Given the description of an element on the screen output the (x, y) to click on. 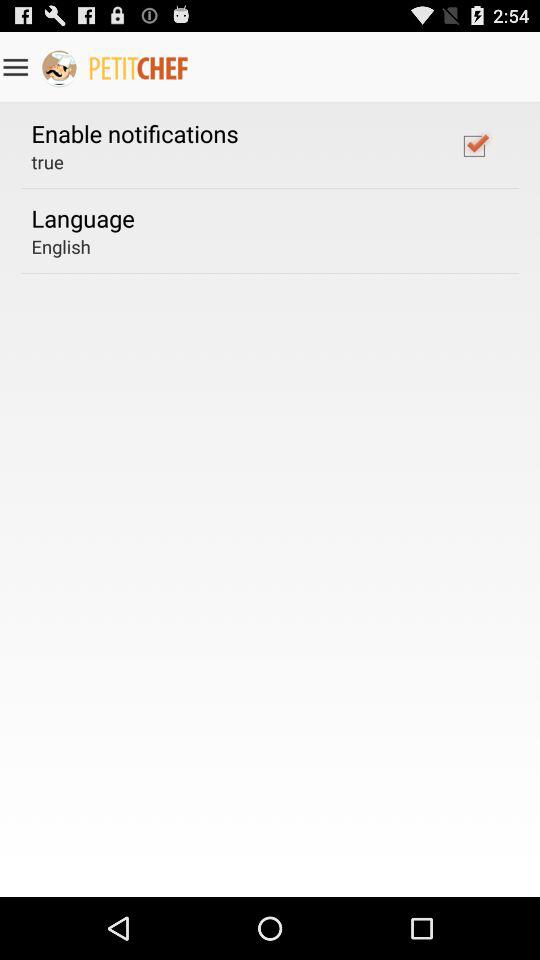
choose enable notifications icon (134, 133)
